Given the description of an element on the screen output the (x, y) to click on. 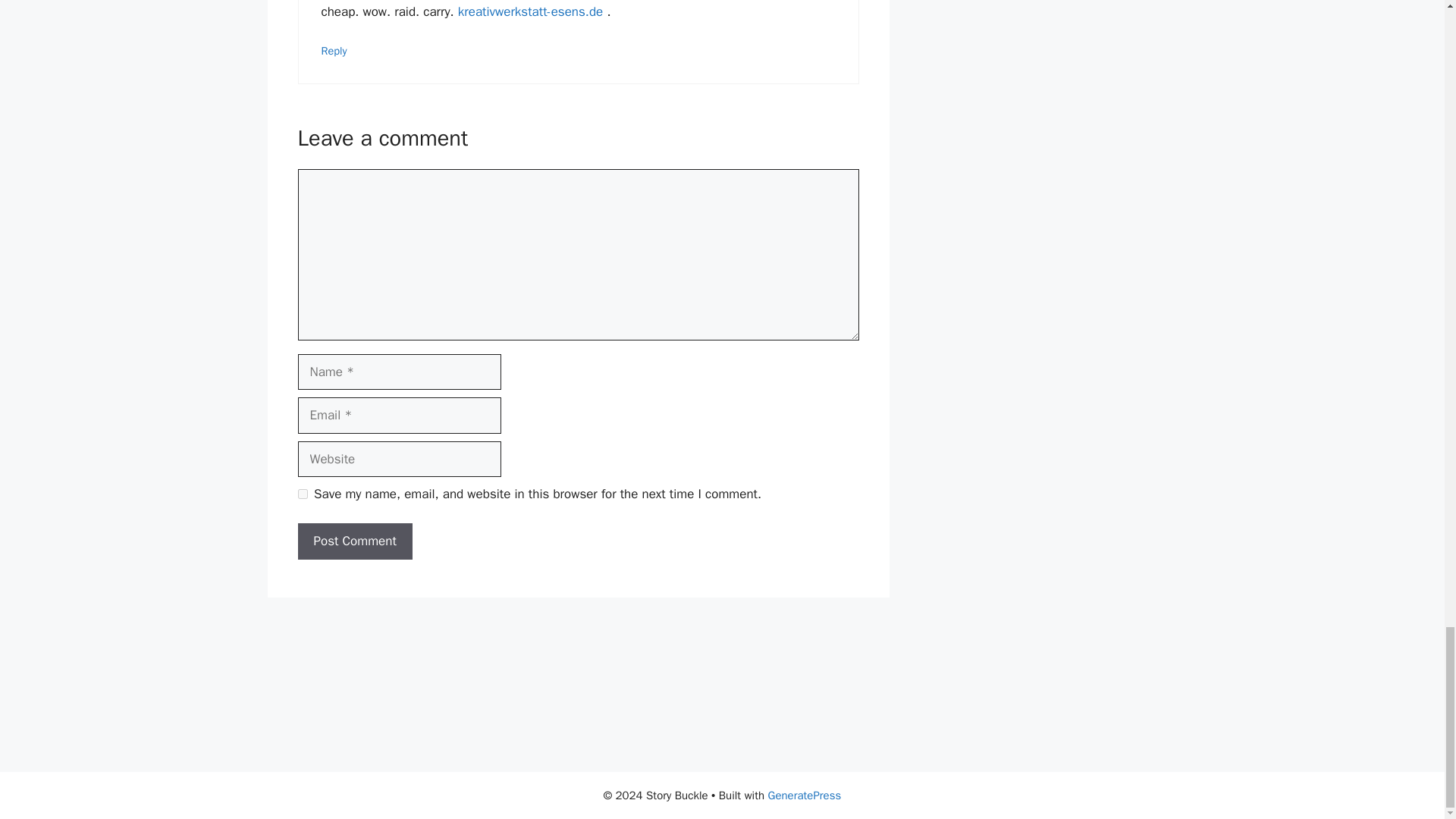
yes (302, 493)
Post Comment (354, 541)
Post Comment (354, 541)
Reply (334, 50)
kreativwerkstatt-esens.de (530, 11)
GeneratePress (804, 795)
